Given the description of an element on the screen output the (x, y) to click on. 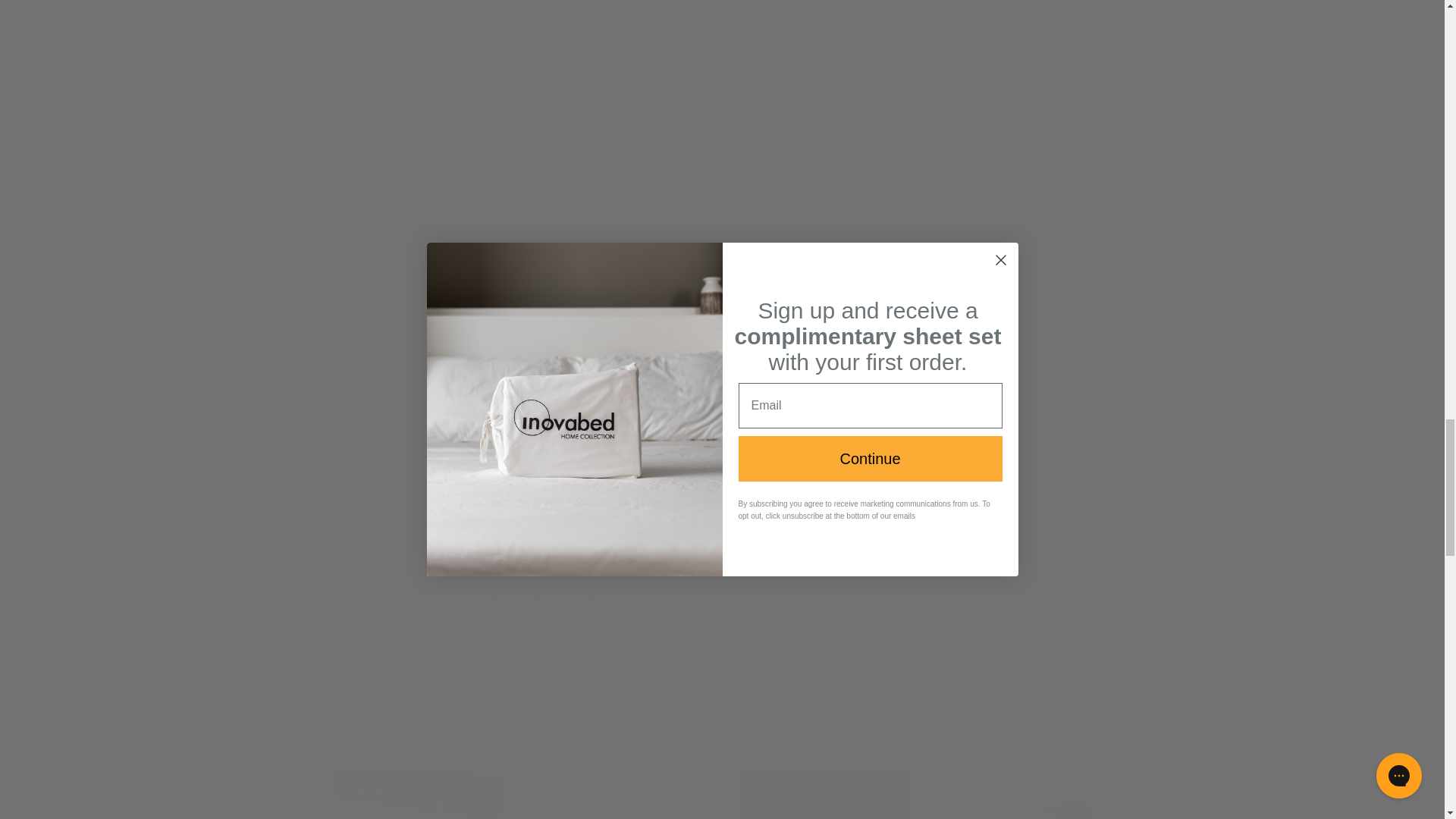
Polysleep Mattress for Inovabed (718, 36)
Product Details (721, 391)
Polysleep Mattress for Inovabed (711, 140)
Wall Bed Handles (875, 261)
